Given the description of an element on the screen output the (x, y) to click on. 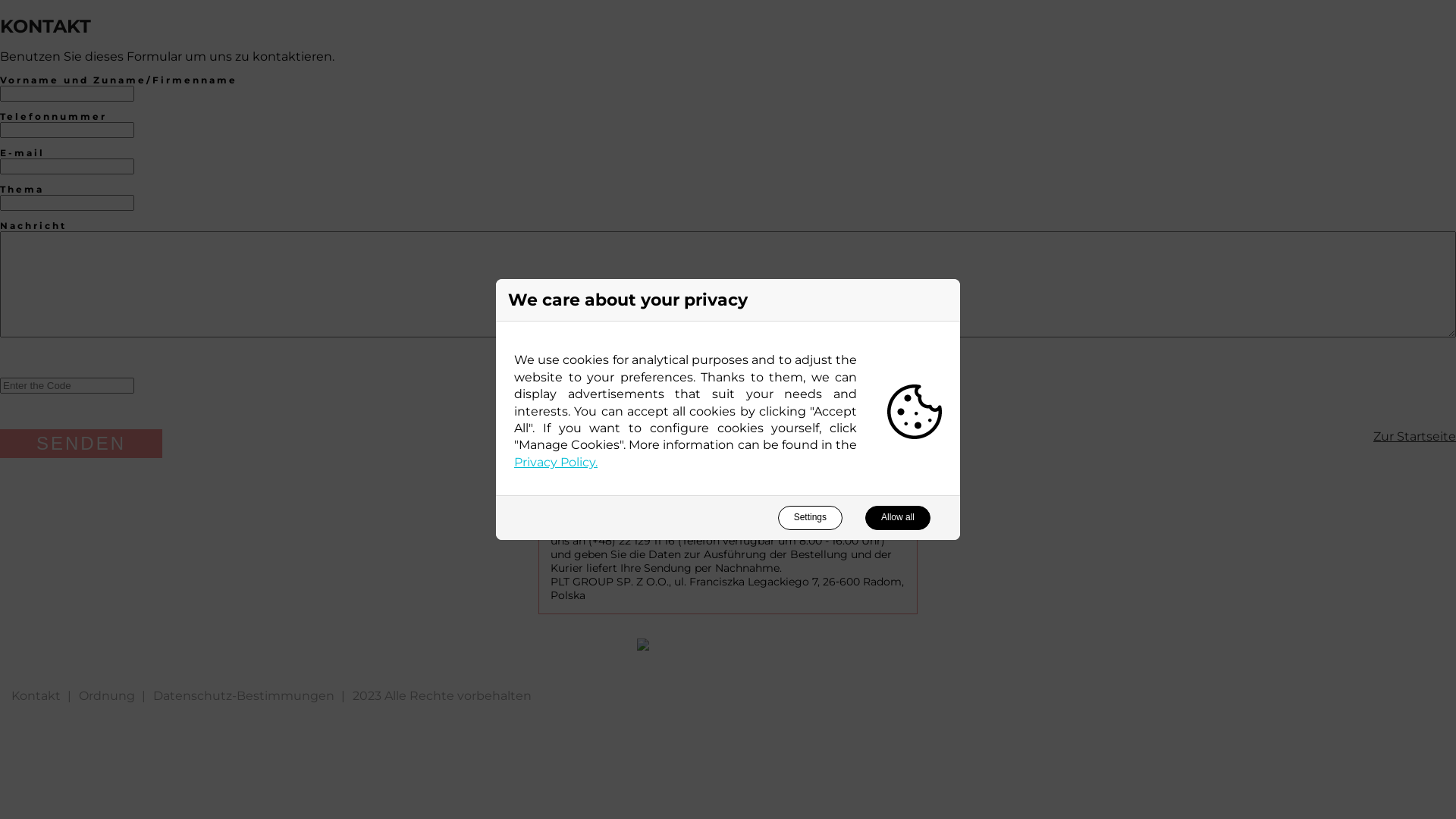
Ordnung Element type: text (106, 695)
Kontakt Element type: text (35, 695)
Privacy Policy. Element type: text (555, 462)
Senden Element type: text (81, 443)
Settings Element type: text (810, 517)
Allow all Element type: text (897, 517)
Datenschutz-Bestimmungen Element type: text (243, 695)
